Given the description of an element on the screen output the (x, y) to click on. 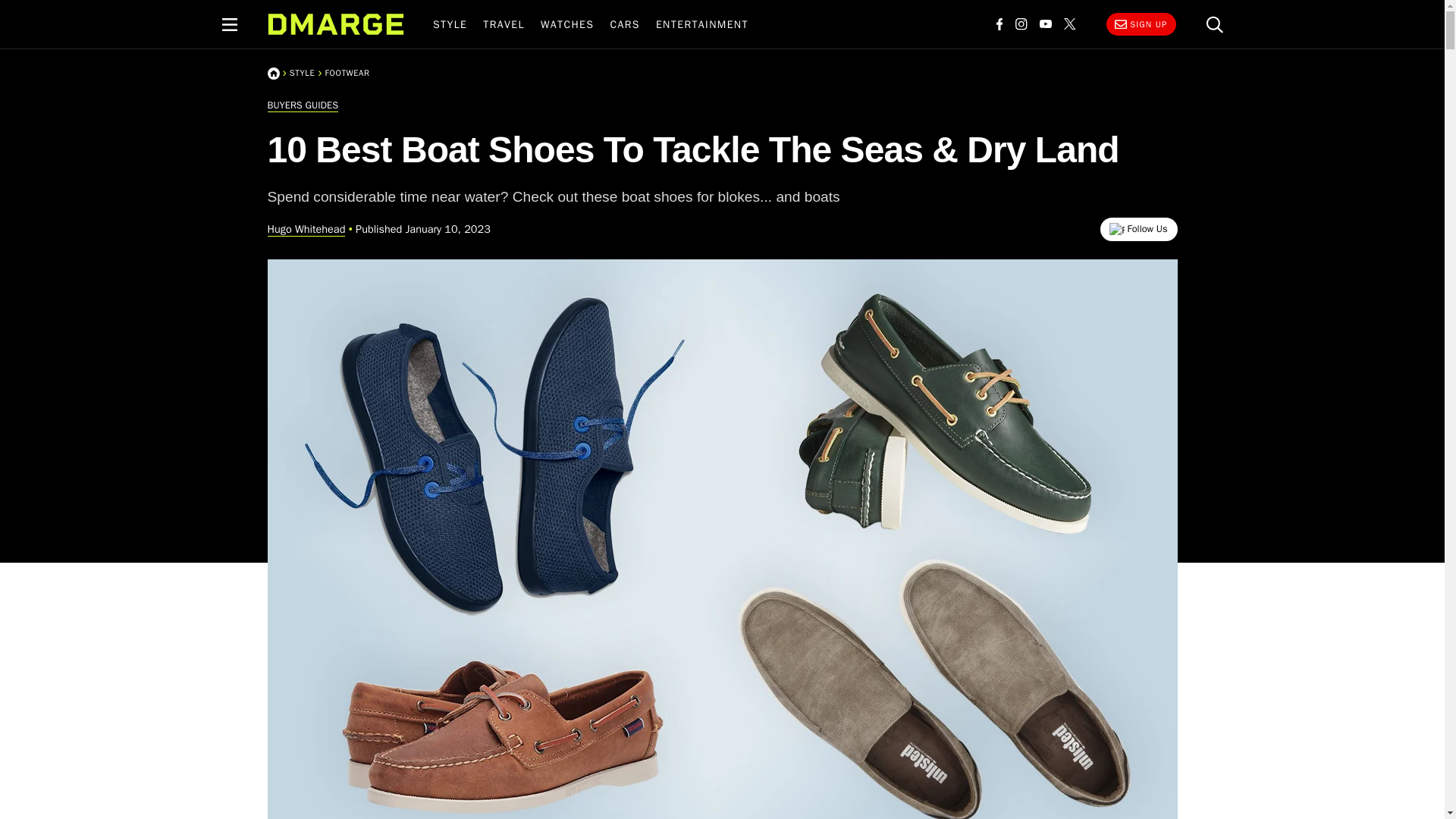
ENTERTAINMENT (701, 24)
Posts by Hugo Whitehead (305, 228)
SIGN UP (1139, 24)
Newsletter Signup (1139, 24)
Visit us on Twitter (1069, 24)
WATCHES (567, 24)
TRAVEL (504, 24)
STYLE (449, 24)
Visit us on Instagram (1020, 24)
Visit us on YouTube (1044, 23)
